Given the description of an element on the screen output the (x, y) to click on. 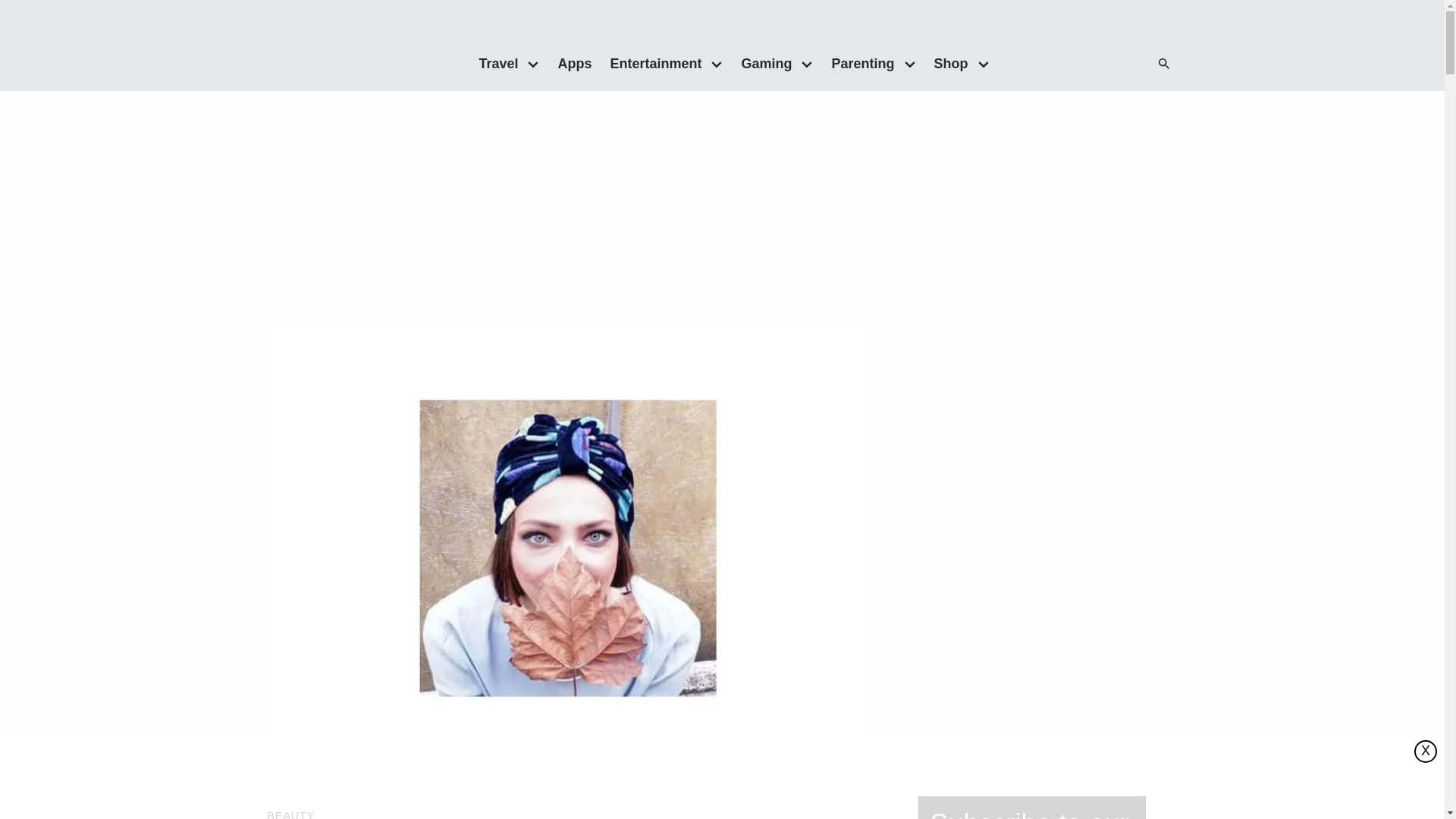
Gaming (762, 63)
Facebook (1048, 63)
Open menu (807, 63)
Twitter (1079, 63)
BEAUTY (290, 814)
Parenting (857, 63)
Entertainment (650, 63)
Open menu (909, 63)
Open menu (533, 63)
Open menu (982, 63)
3rd party ad content (721, 210)
Apps (573, 63)
Instagram (1109, 63)
Open menu (716, 63)
